Given the description of an element on the screen output the (x, y) to click on. 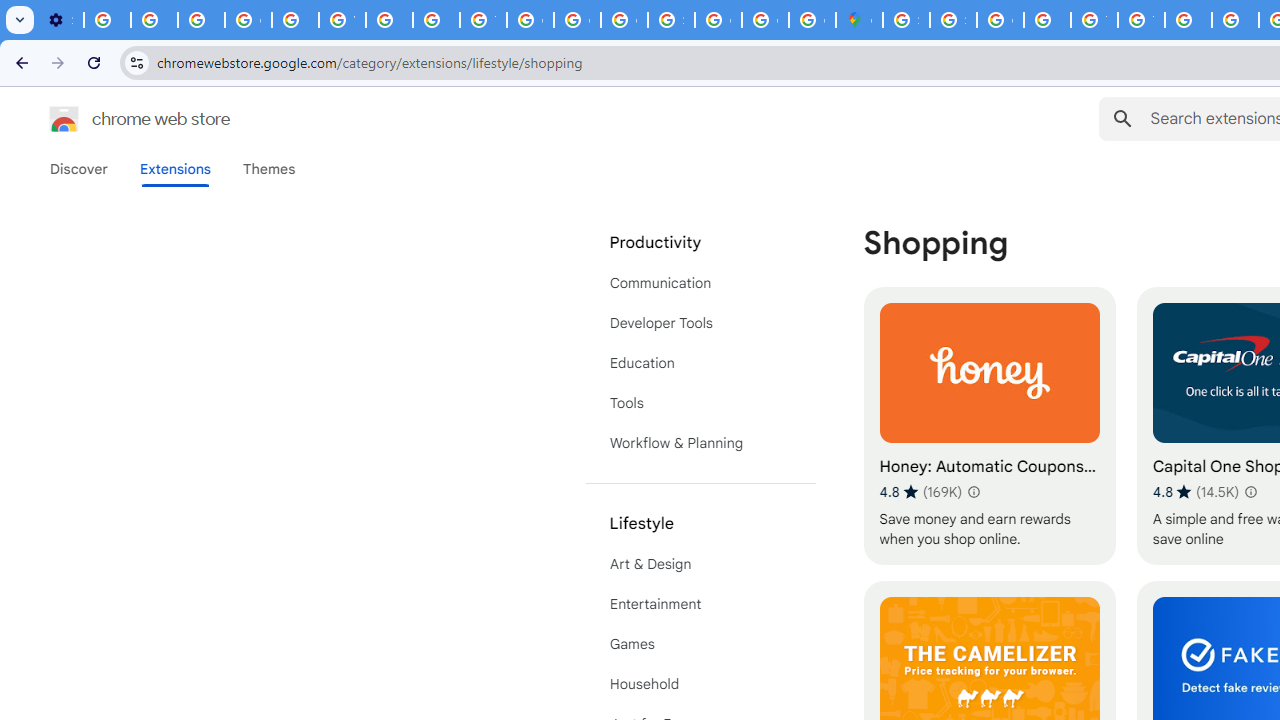
Terms and Conditions (1140, 20)
Household (700, 683)
Privacy Help Center - Policies Help (294, 20)
Learn how to find your photos - Google Photos Help (153, 20)
Terms and Conditions (1094, 20)
Entertainment (700, 603)
Education (700, 362)
Themes (269, 169)
Blogger Policies and Guidelines - Transparency Center (1188, 20)
Privacy Help Center - Policies Help (1235, 20)
Average rating 4.8 out of 5 stars. 169K ratings. (920, 491)
